Given the description of an element on the screen output the (x, y) to click on. 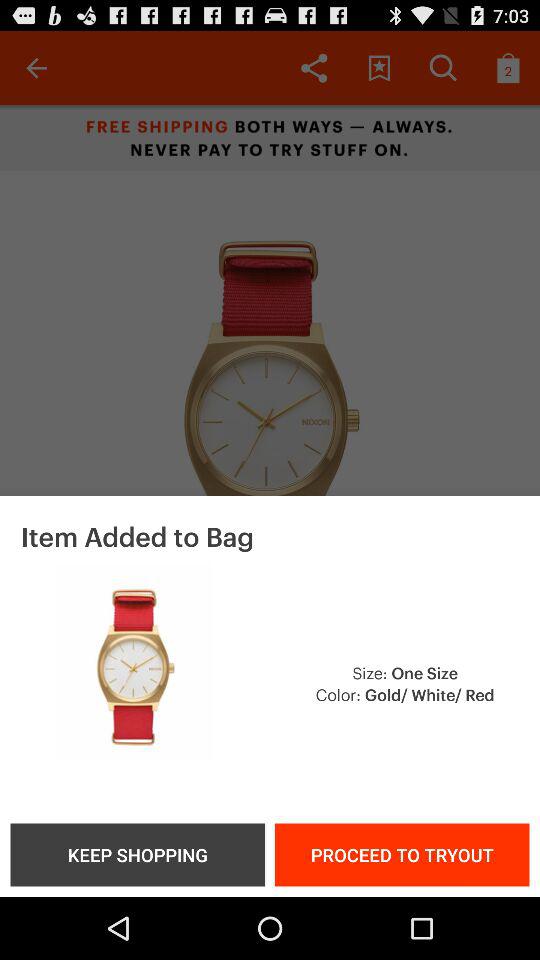
turn off the item next to the proceed to tryout icon (137, 854)
